Given the description of an element on the screen output the (x, y) to click on. 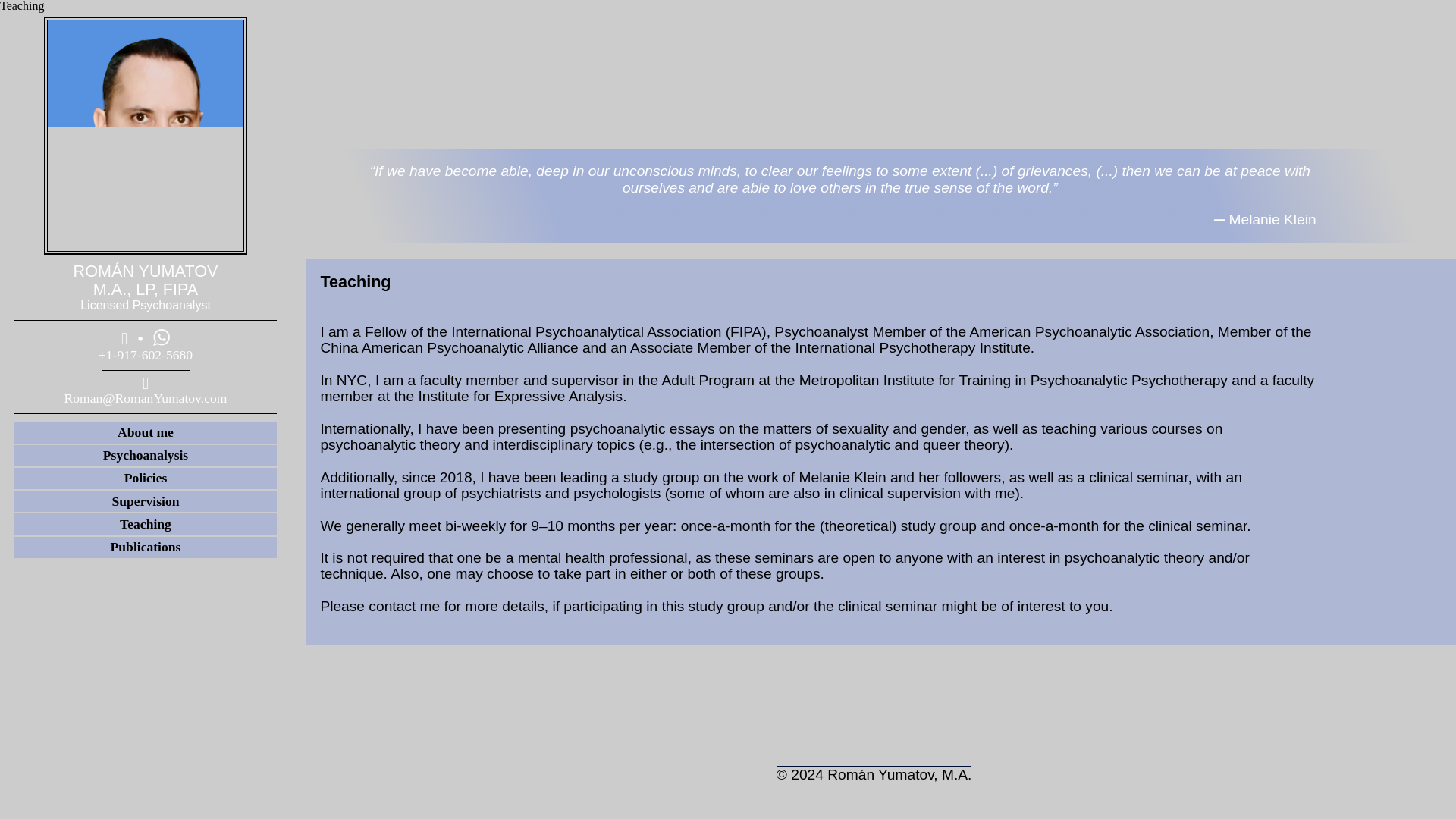
Policies (145, 477)
Psychoanalysis (145, 454)
WhatsApp (161, 337)
Teaching (145, 523)
Teaching (145, 523)
Publications (145, 547)
Publications (145, 546)
About me (145, 432)
Supervision (145, 500)
Supervision (145, 500)
